Given the description of an element on the screen output the (x, y) to click on. 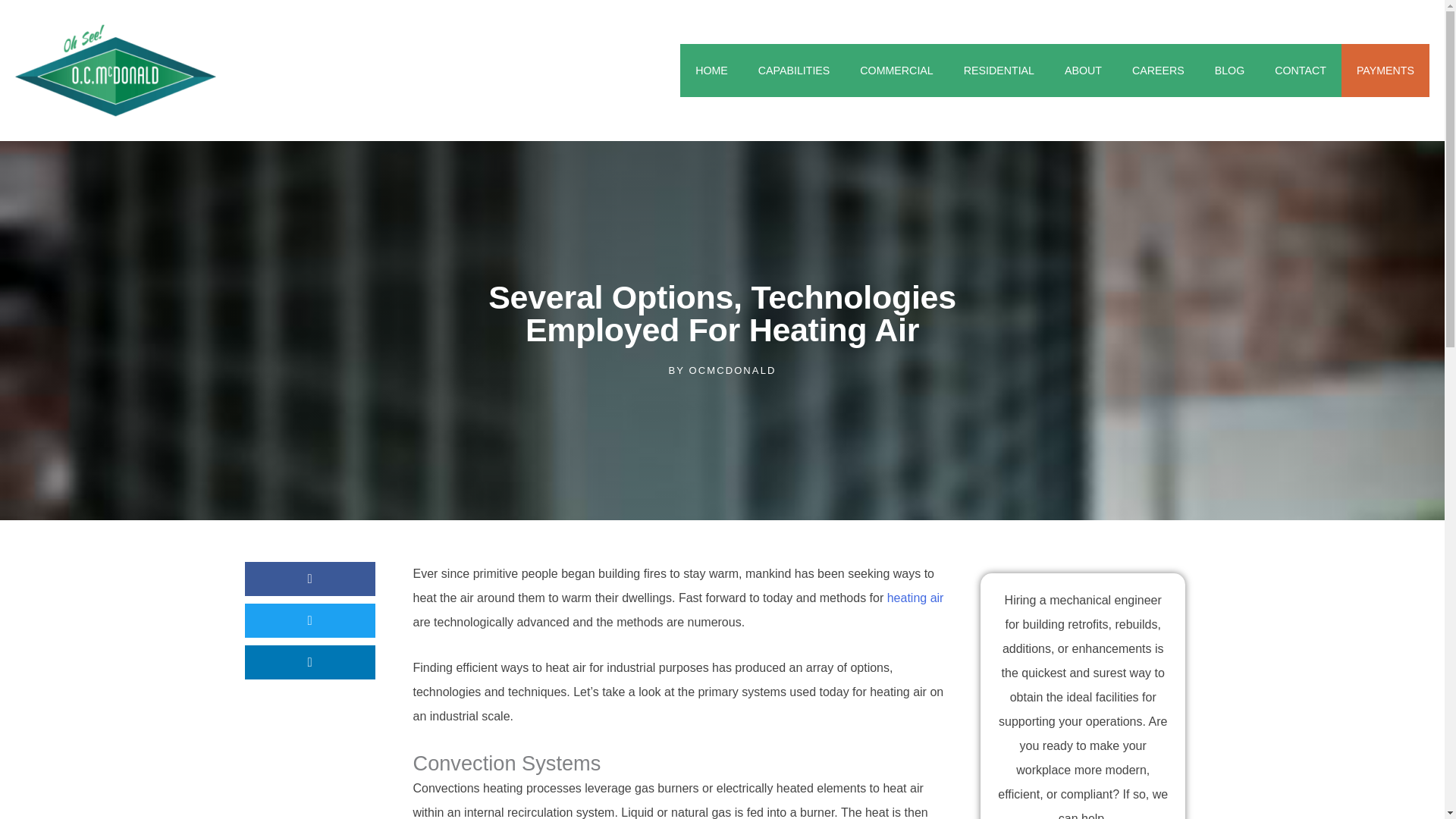
CAREERS (1157, 70)
COMMERCIAL (895, 70)
ABOUT (1082, 70)
HOME (710, 70)
CAPABILITIES (793, 70)
PAYMENTS (1384, 70)
BY OCMCDONALD (722, 370)
RESIDENTIAL (999, 70)
heating air (914, 597)
BLOG (1229, 70)
